Given the description of an element on the screen output the (x, y) to click on. 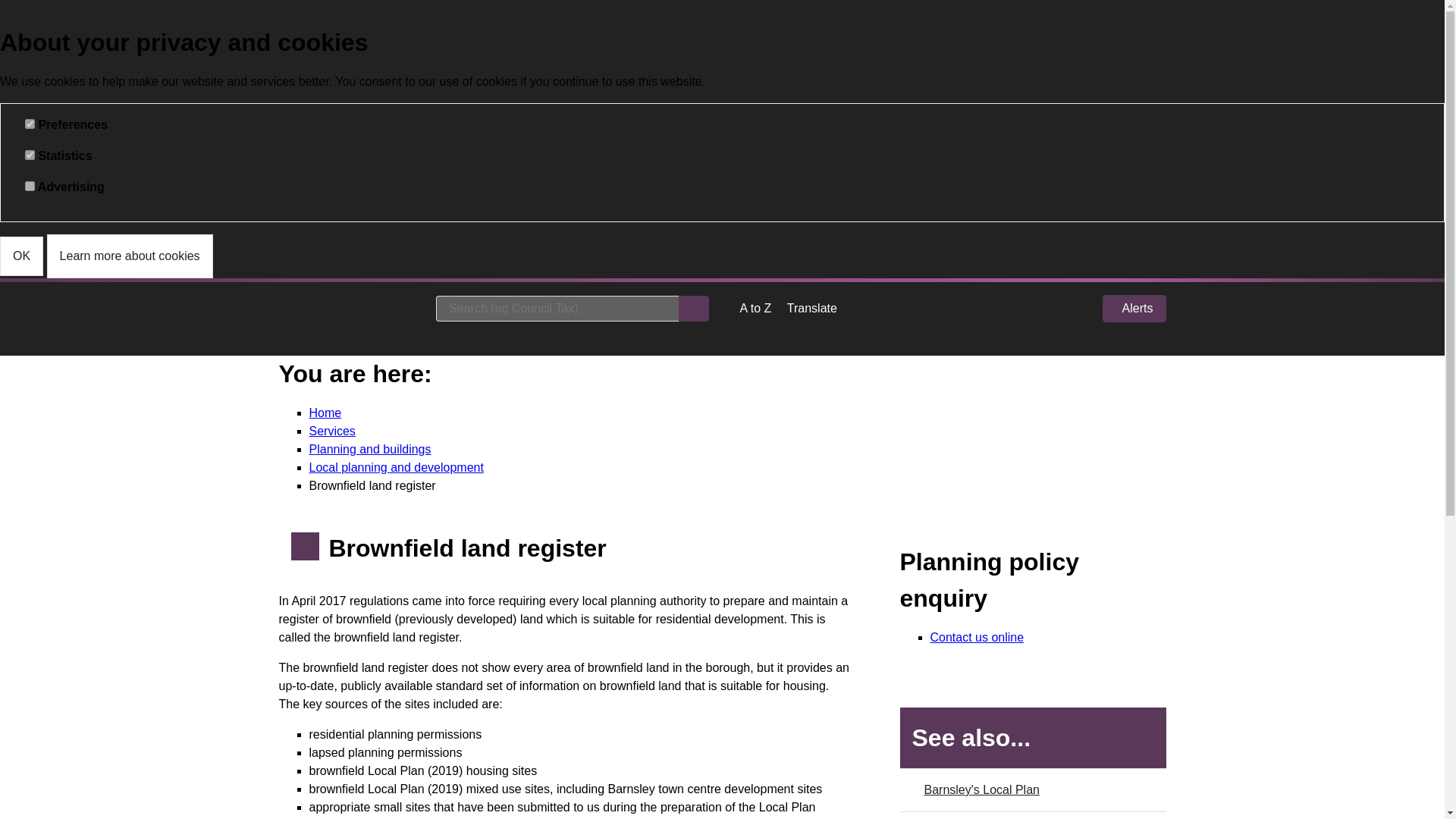
True (29, 185)
Contact us online (976, 636)
Home (325, 412)
Alerts (1134, 308)
Services (331, 431)
OK (21, 256)
Local Plan consultations (1032, 815)
A to Z (755, 308)
True (29, 123)
OK (21, 256)
